Given the description of an element on the screen output the (x, y) to click on. 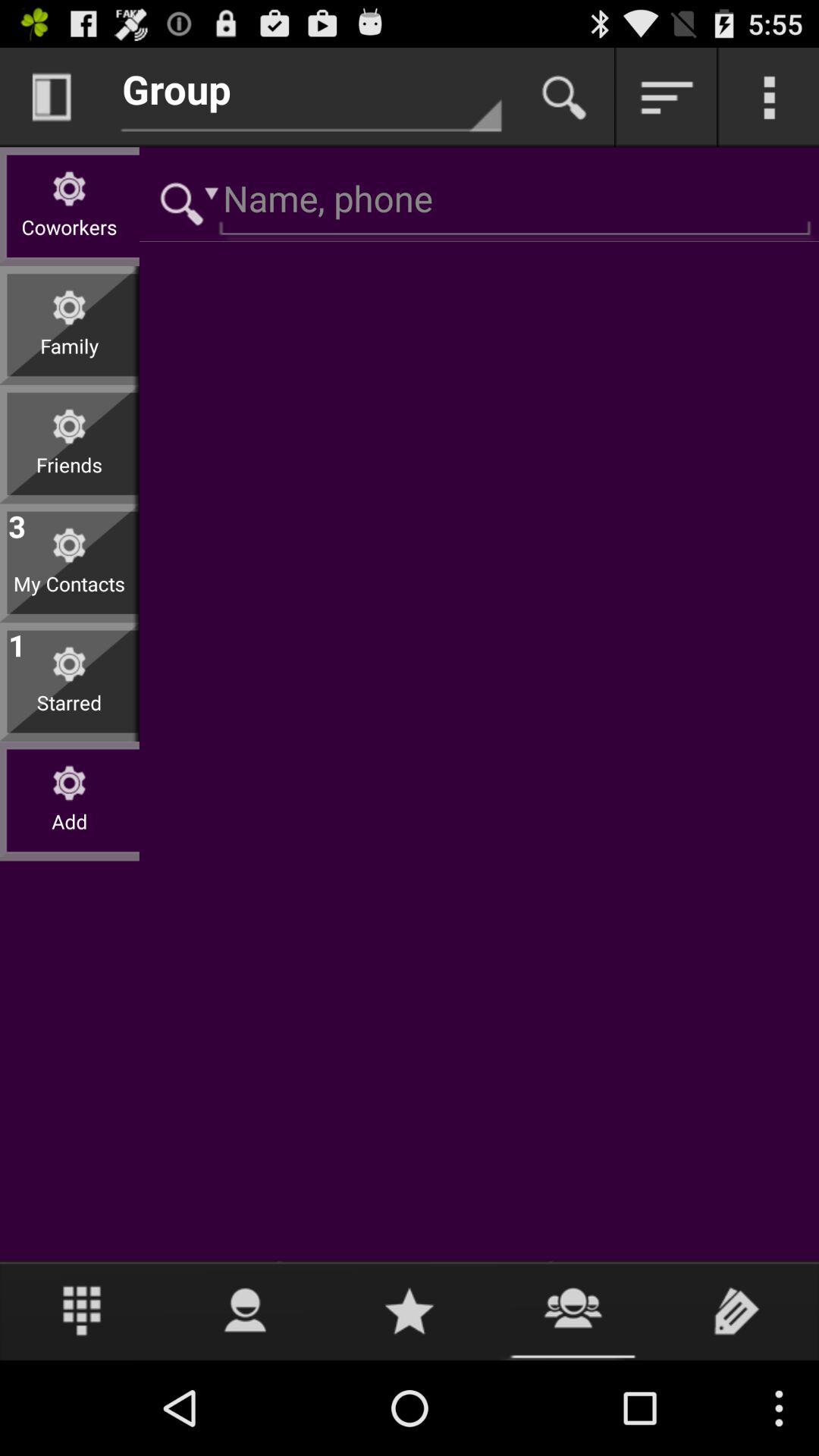
button for start search (564, 97)
